Given the description of an element on the screen output the (x, y) to click on. 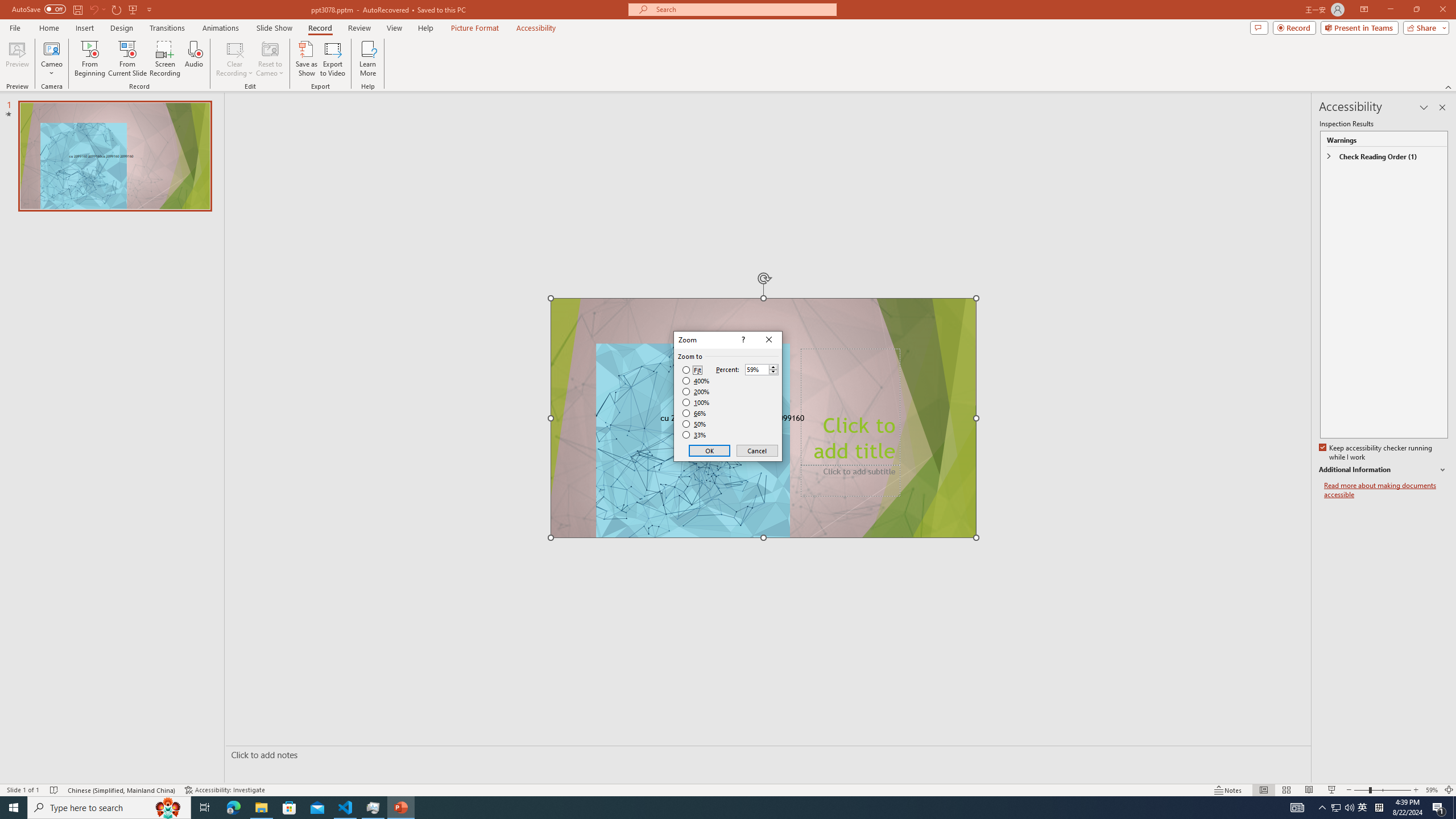
Preview (17, 58)
AutomationID: 4105 (1297, 807)
Keep accessibility checker running while I work (1376, 452)
66% (694, 412)
OK (709, 450)
Percent (761, 369)
More (772, 366)
